Given the description of an element on the screen output the (x, y) to click on. 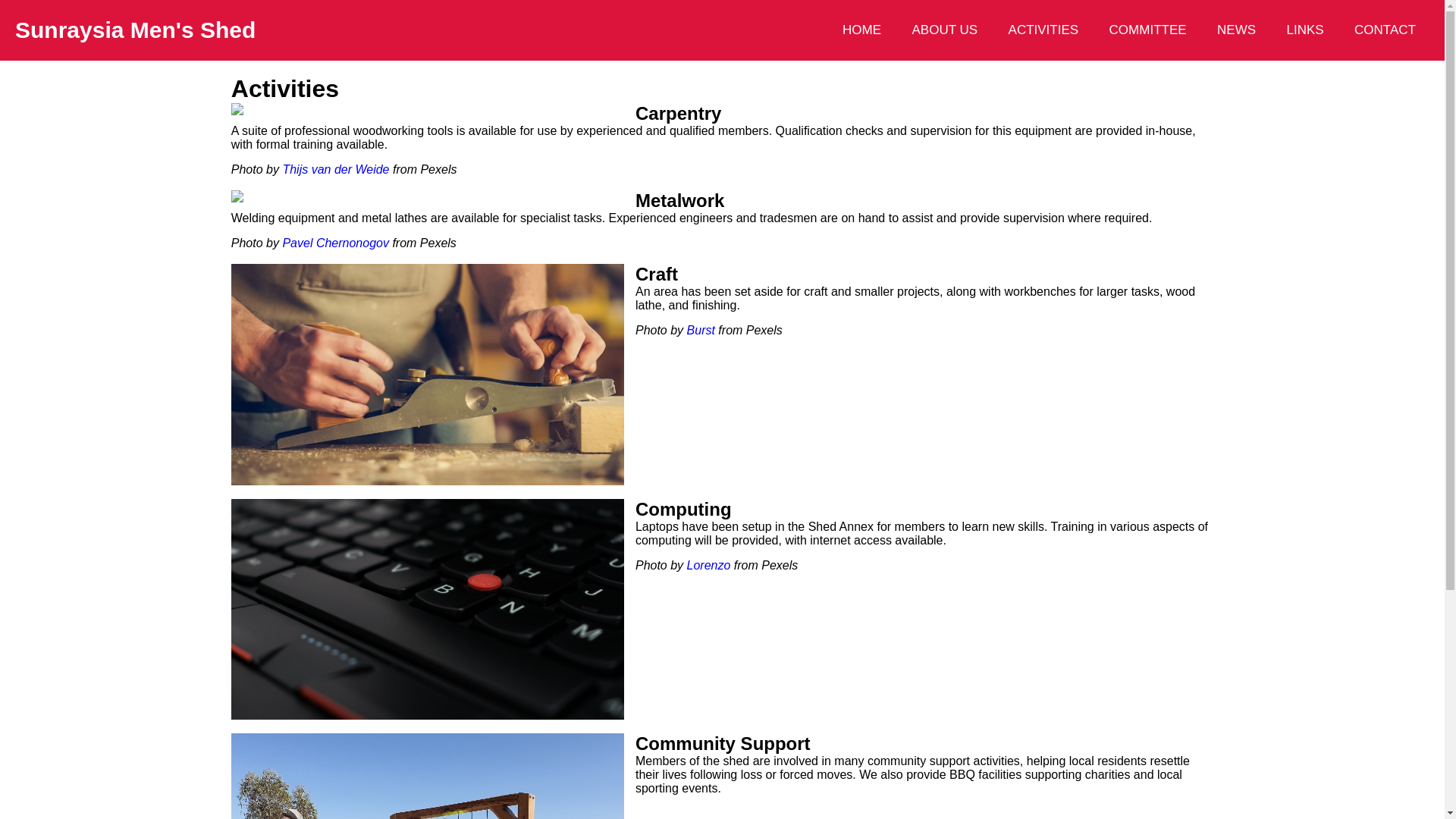
COMMITTEE Element type: text (1147, 29)
Pavel Chernonogov Element type: text (335, 242)
ABOUT US Element type: text (945, 29)
Burst Element type: text (701, 329)
HOME Element type: text (861, 29)
ACTIVITIES Element type: text (1043, 29)
CONTACT Element type: text (1384, 29)
Lorenzo Element type: text (709, 564)
NEWS Element type: text (1236, 29)
Thijs van der Weide Element type: text (335, 169)
LINKS Element type: text (1305, 29)
